Given the description of an element on the screen output the (x, y) to click on. 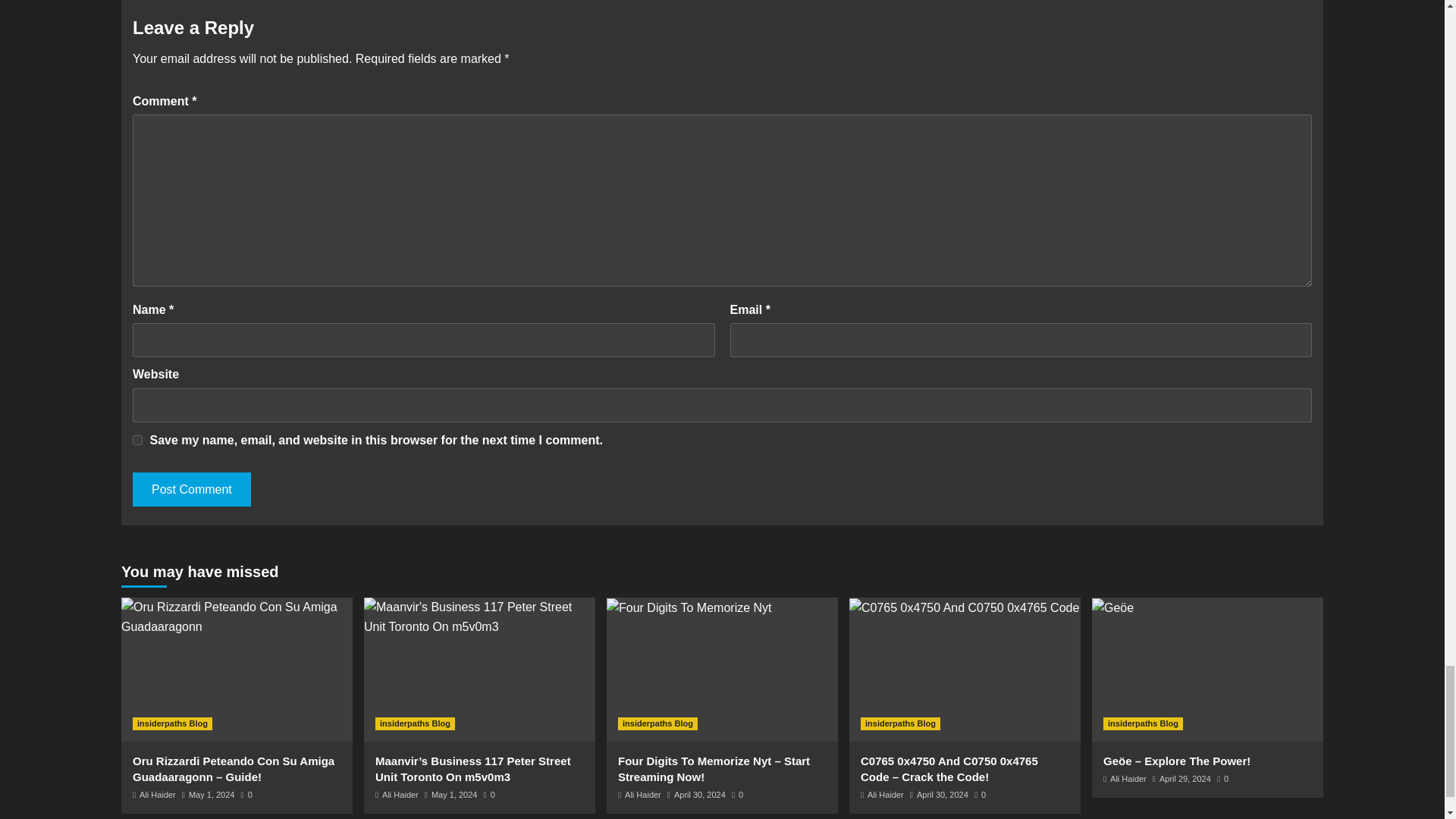
yes (137, 439)
Post Comment (191, 489)
